Given the description of an element on the screen output the (x, y) to click on. 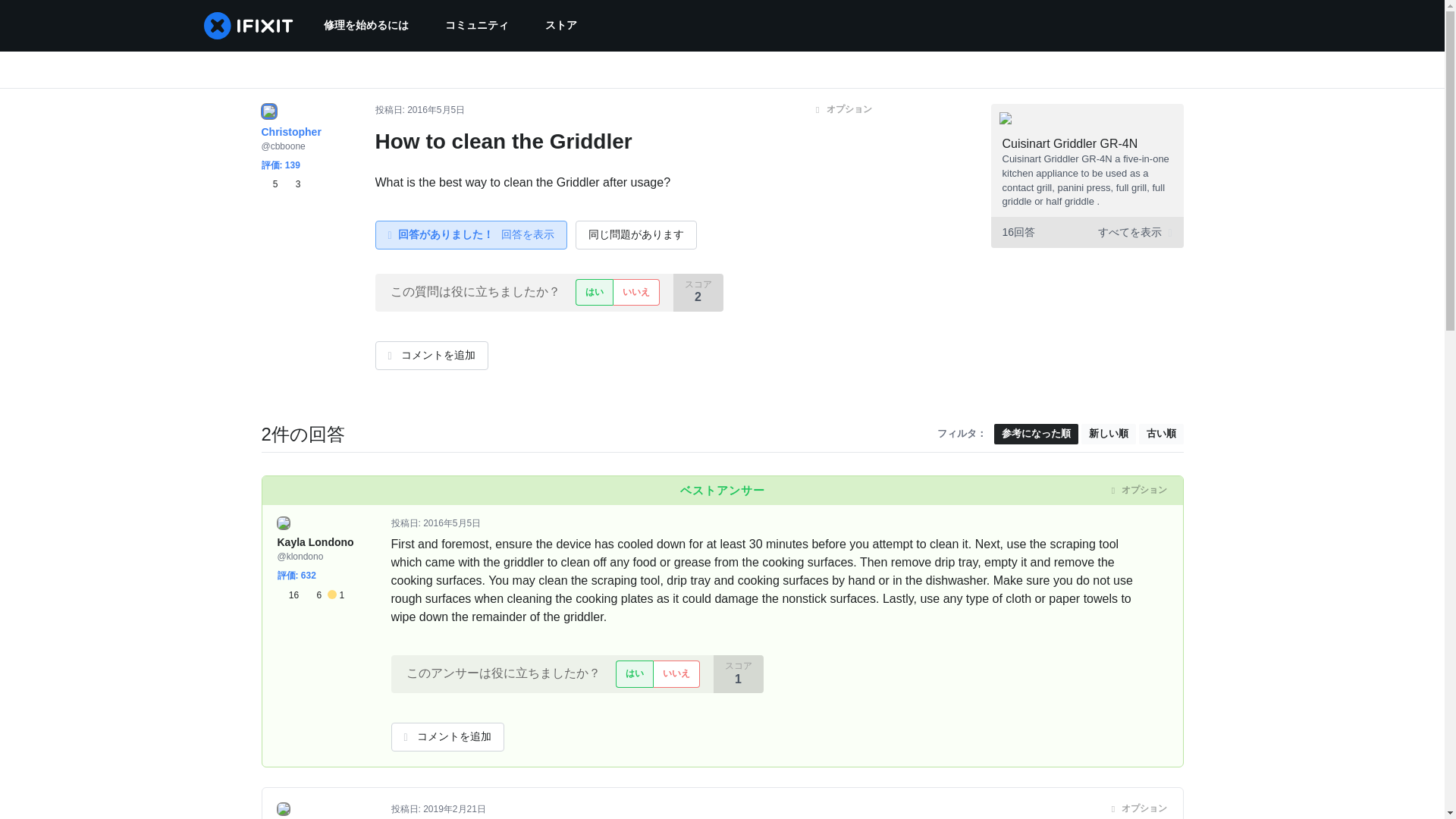
Thu, 05 May 2016 11:26:03 -0700 (435, 109)
5 3 (279, 184)
Cuisinart Griddler GR-4N (1070, 143)
Thu, 21 Feb 2019 11:40:19 -0700 (454, 808)
Thu, 05 May 2016 12:21:32 -0700 (451, 522)
16 6 1 (311, 594)
